Given the description of an element on the screen output the (x, y) to click on. 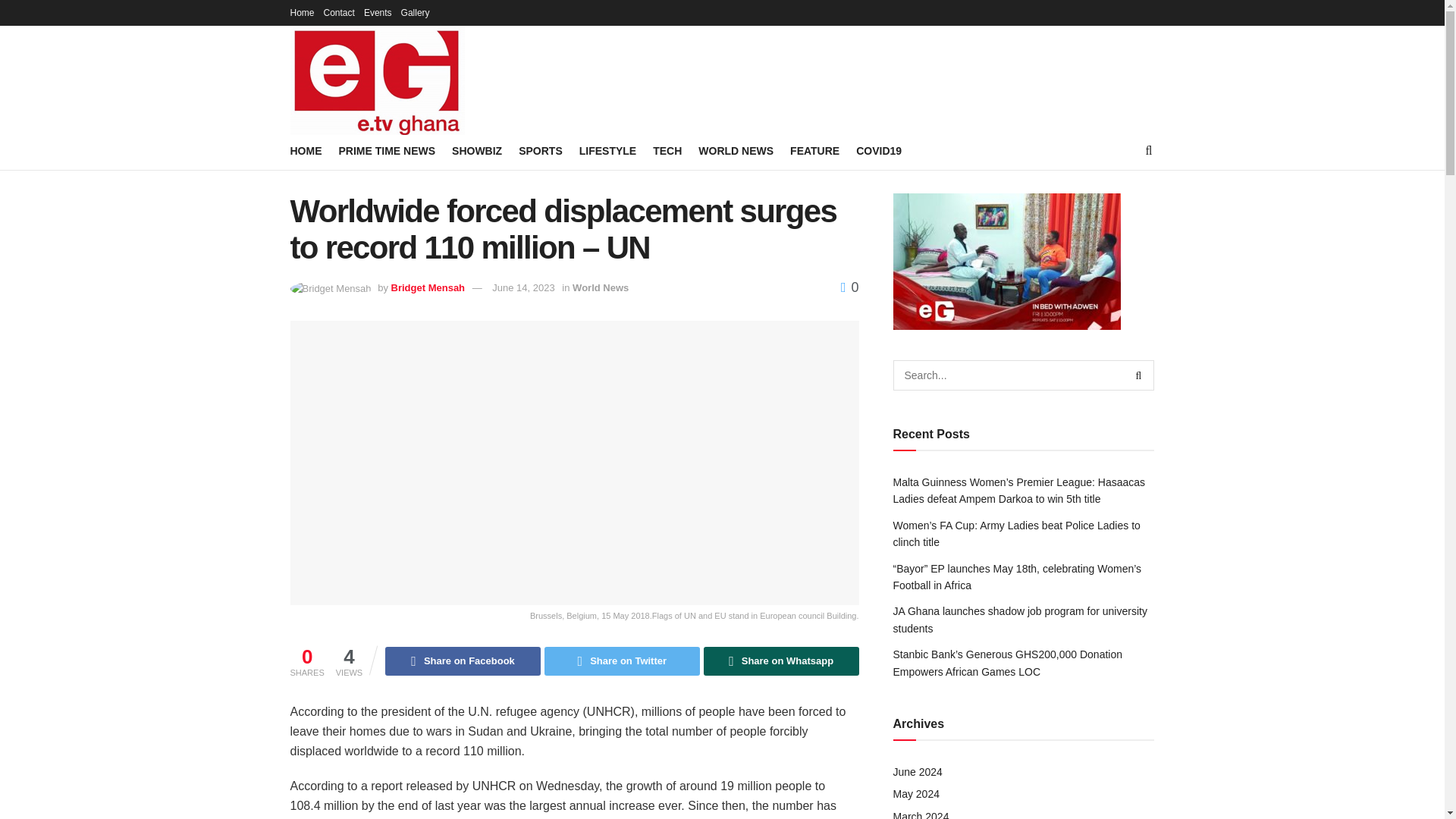
Share on Twitter (622, 661)
TECH (666, 150)
FEATURE (815, 150)
PRIME TIME NEWS (386, 150)
HOME (305, 150)
SPORTS (540, 150)
LIFESTYLE (607, 150)
Contact (339, 12)
WORLD NEWS (735, 150)
SHOWBIZ (476, 150)
